Given the description of an element on the screen output the (x, y) to click on. 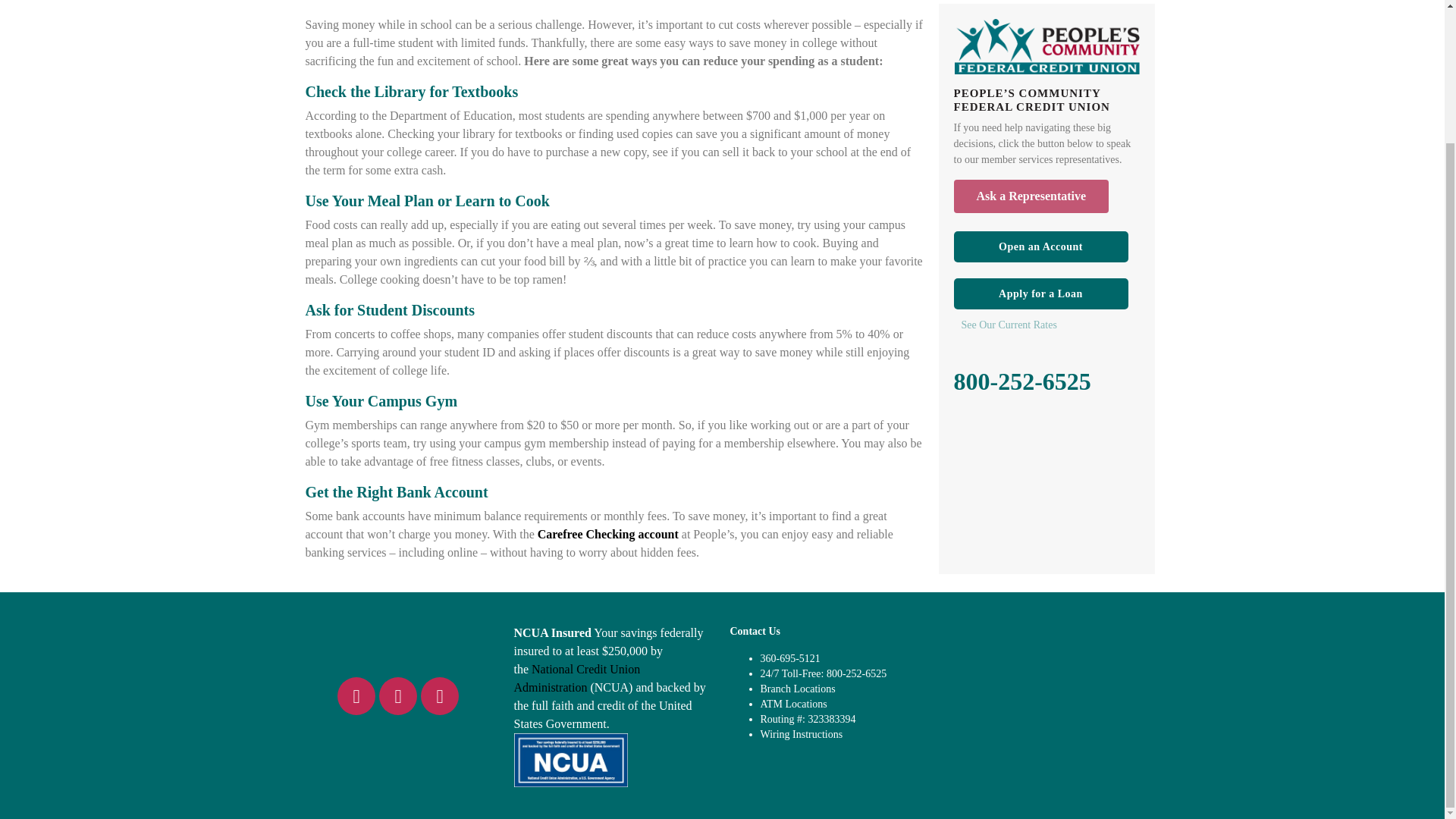
National Credit Union Administration (576, 677)
Apply for a Loan (1040, 293)
Branch Locations (797, 688)
Ask a Representative (1031, 195)
See Our Current Rates (1050, 324)
NCUA (570, 758)
Open an Account (1040, 246)
NCUA (576, 677)
800-252-6525 (1021, 380)
Carefree Checking account (607, 533)
Wiring Instructions (801, 734)
ATM Locations (793, 704)
